Given the description of an element on the screen output the (x, y) to click on. 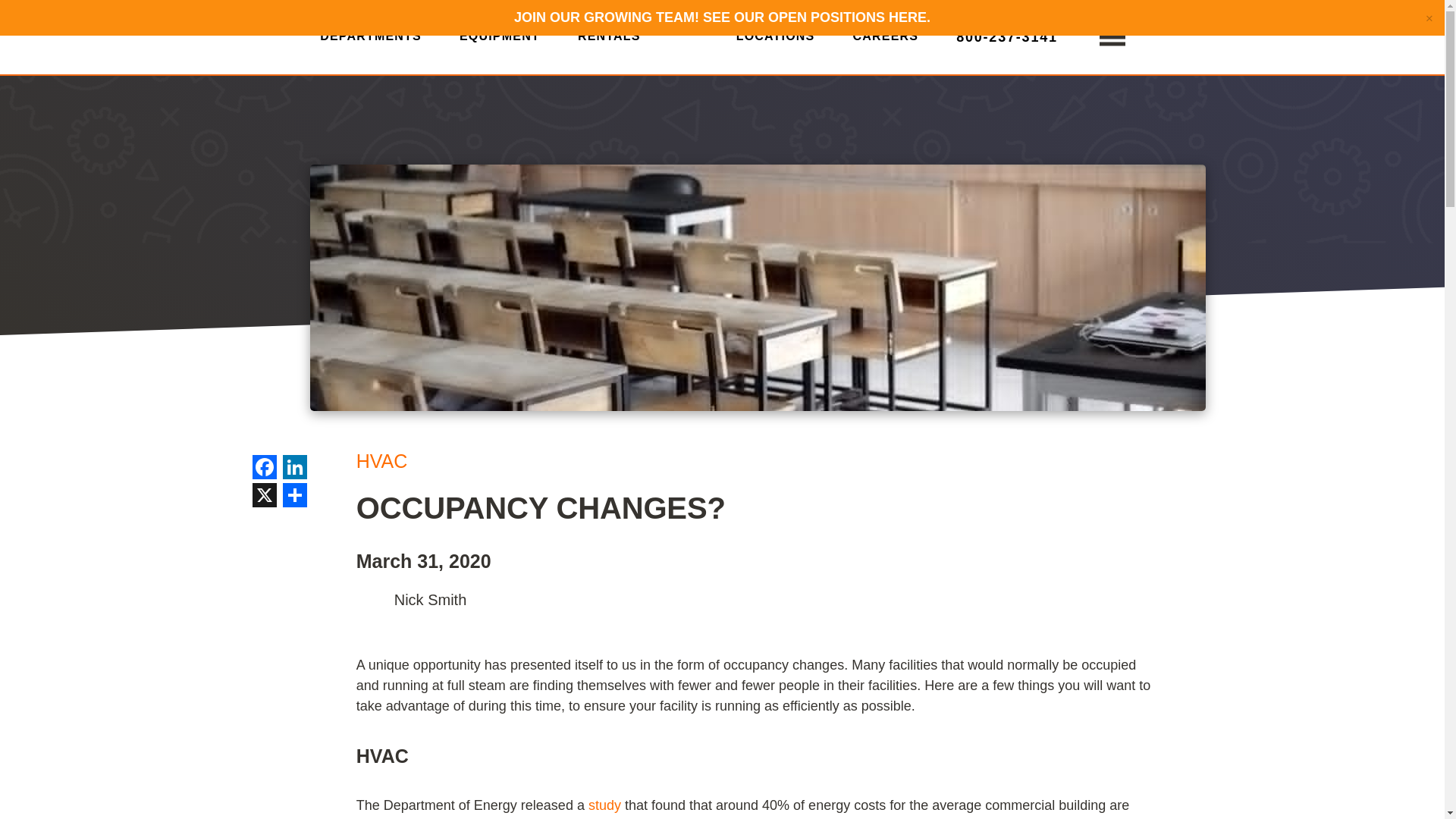
DEPARTMENTS (371, 42)
Facebook (263, 469)
Facebook (263, 469)
RENTALS (609, 42)
LinkedIn (294, 469)
X (263, 497)
LOCATIONS (775, 42)
study (604, 805)
Nick Smith (371, 599)
LinkedIn (294, 469)
